Given the description of an element on the screen output the (x, y) to click on. 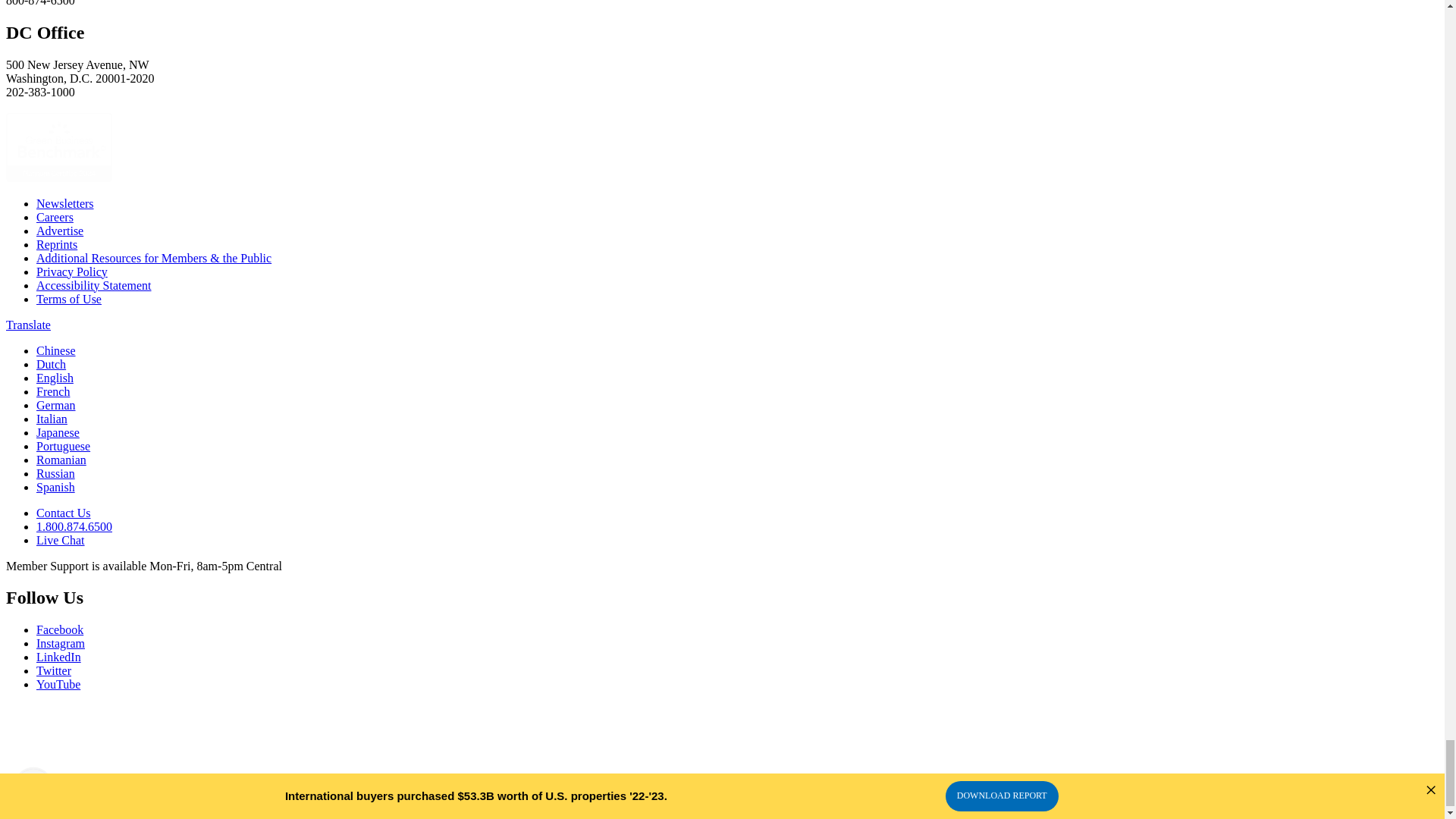
Green Business Benchmark (58, 177)
